Given the description of an element on the screen output the (x, y) to click on. 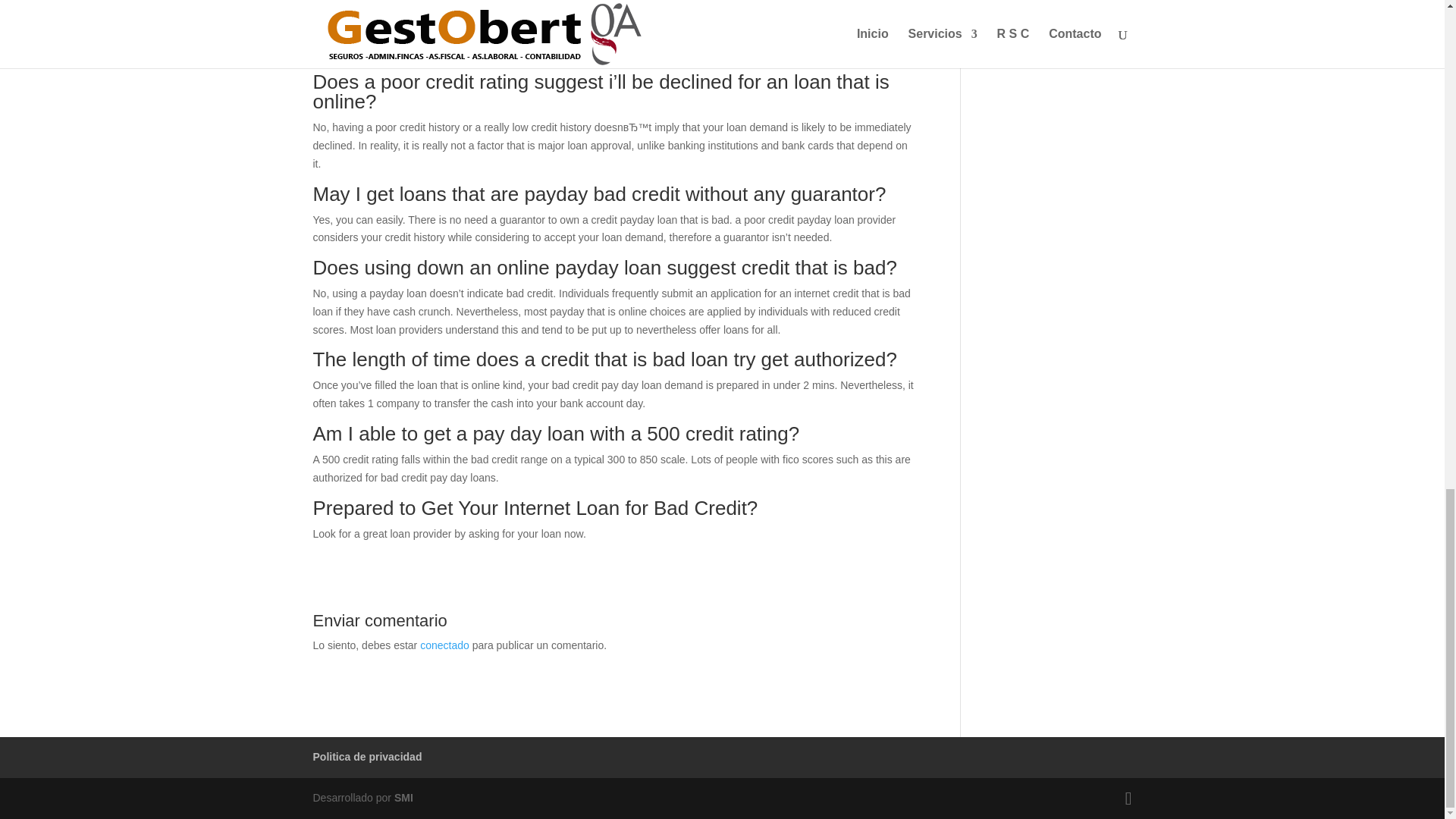
conectado (444, 645)
SMI (403, 797)
Politica de privacidad (367, 756)
